Given the description of an element on the screen output the (x, y) to click on. 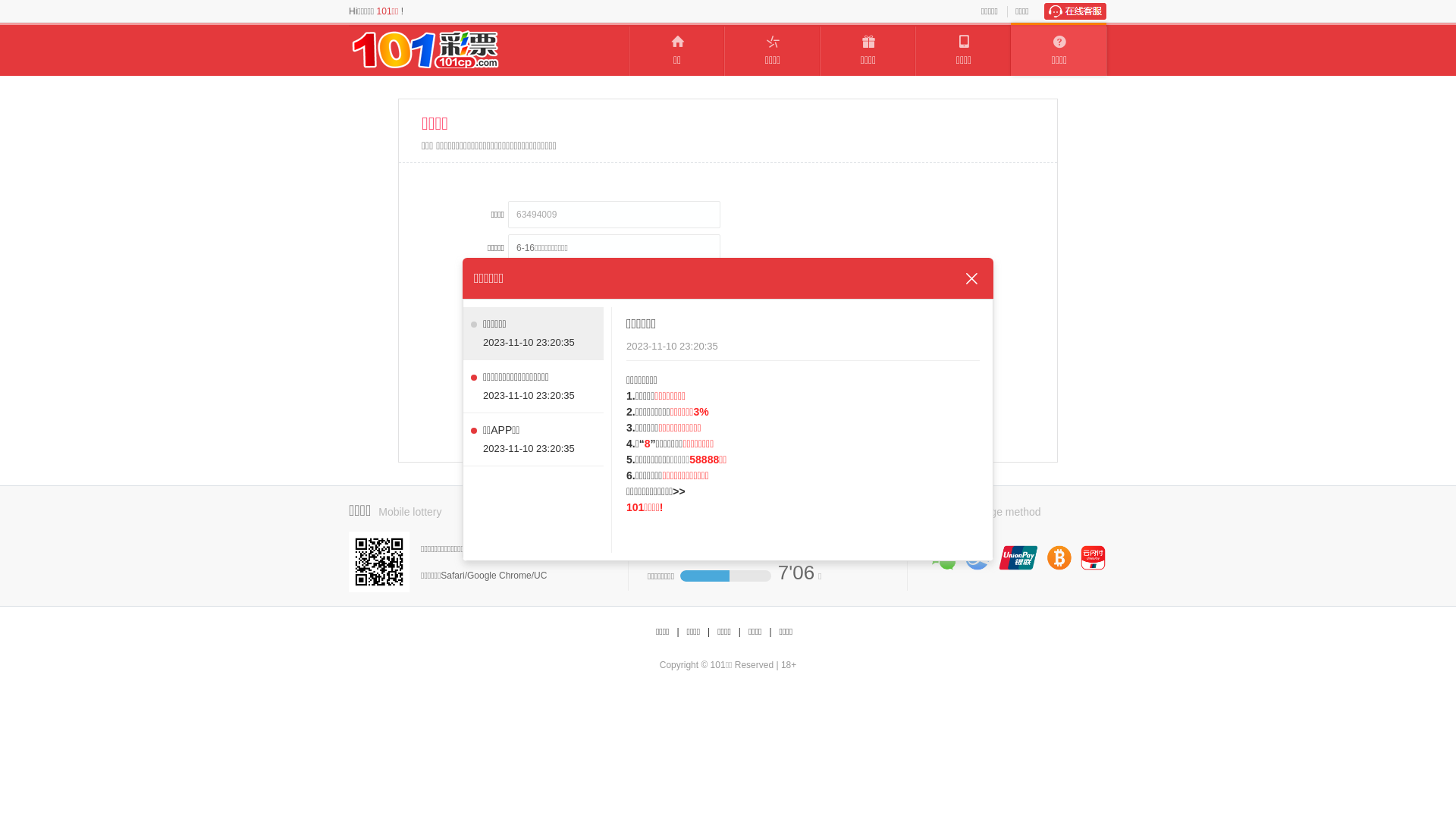
| Element type: text (769, 631)
| Element type: text (708, 631)
| Element type: text (739, 631)
| Element type: text (677, 631)
